Given the description of an element on the screen output the (x, y) to click on. 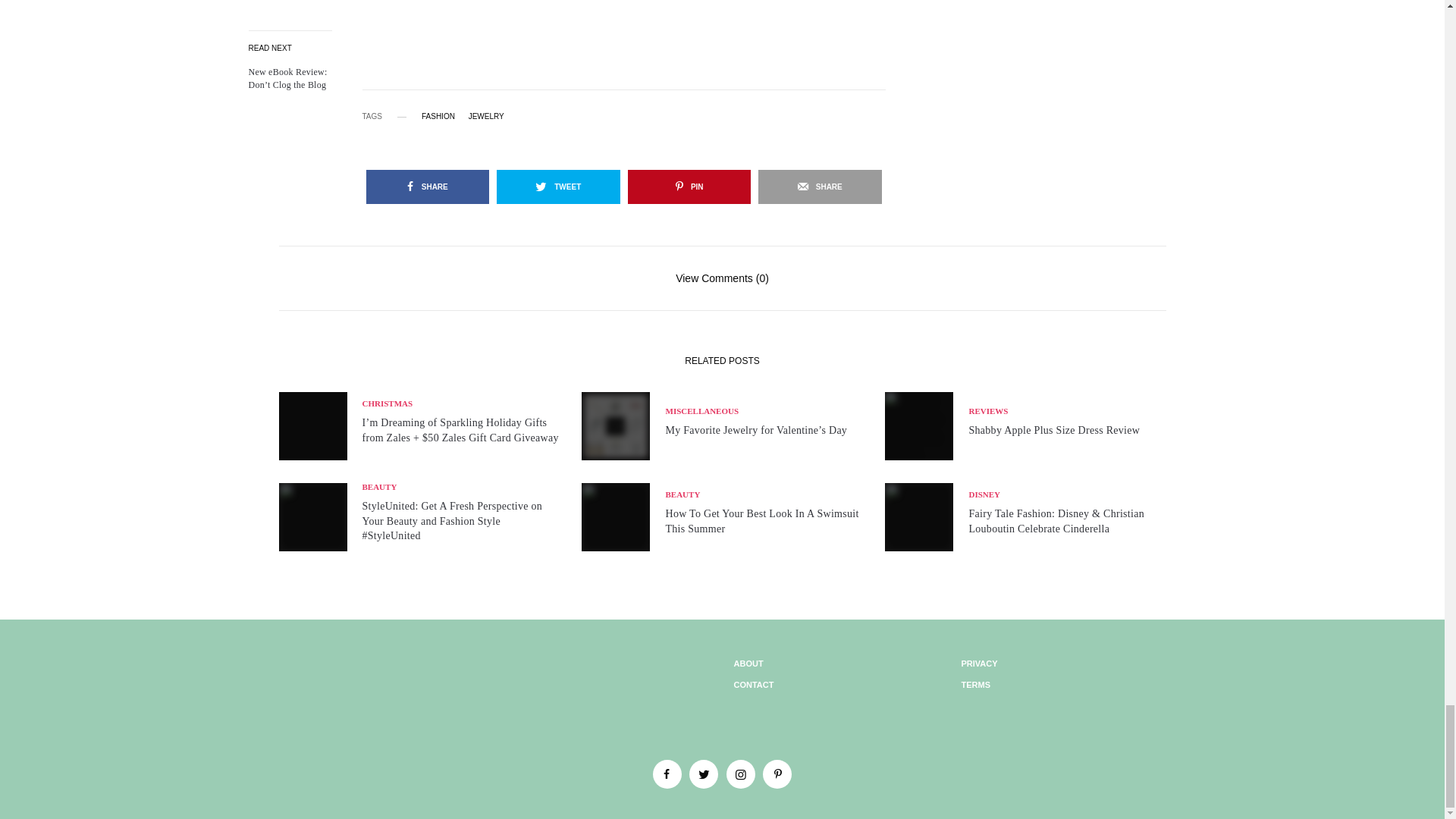
FASHION (438, 116)
SHARE (820, 186)
How To Get Your Best Look In A Swimsuit This Summer (763, 521)
TWEET (558, 186)
Shabby Apple Plus Size Dress Review (1054, 430)
SHARE (427, 186)
PIN (689, 186)
JEWELRY (485, 116)
